Given the description of an element on the screen output the (x, y) to click on. 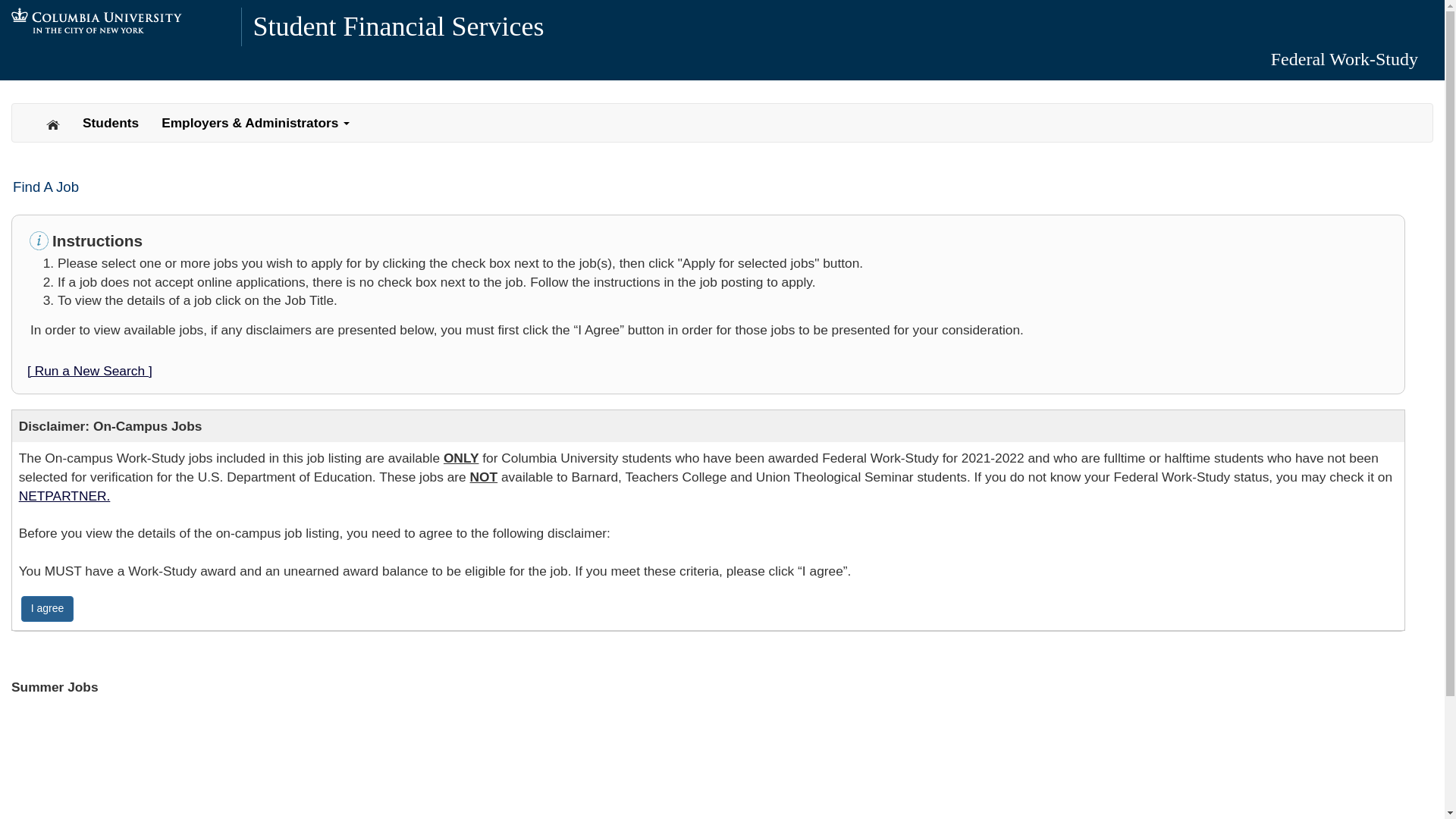
Students (110, 122)
I agree (47, 608)
NETPARTNER. (64, 495)
